Given the description of an element on the screen output the (x, y) to click on. 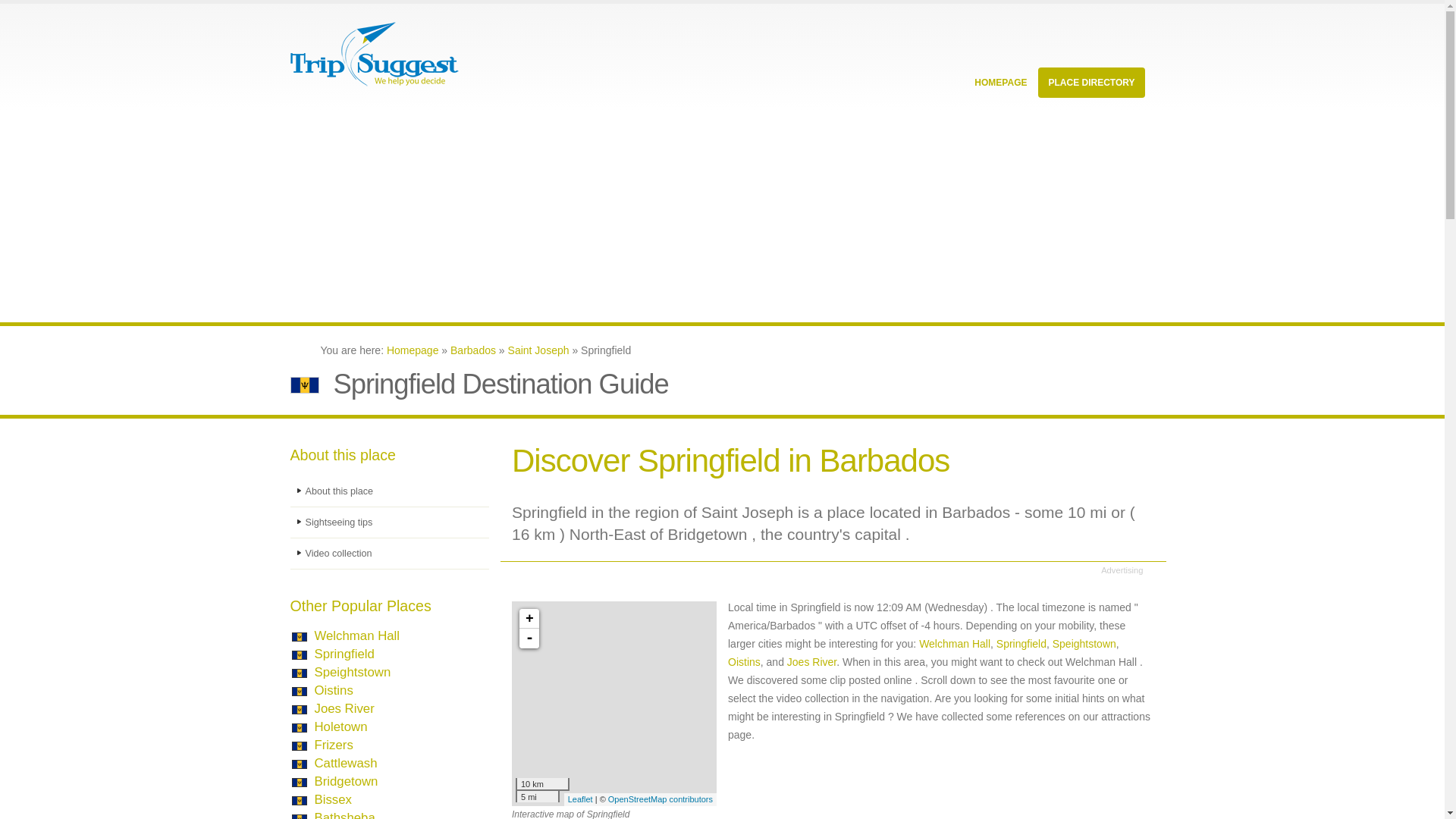
Frizers (333, 744)
Speightstown (352, 672)
Video collection (389, 553)
About this place (389, 490)
Sightseeing tips (389, 522)
Saint Joseph (538, 349)
Cattlewash (345, 762)
Holetown (340, 726)
Oistins (333, 690)
